Given the description of an element on the screen output the (x, y) to click on. 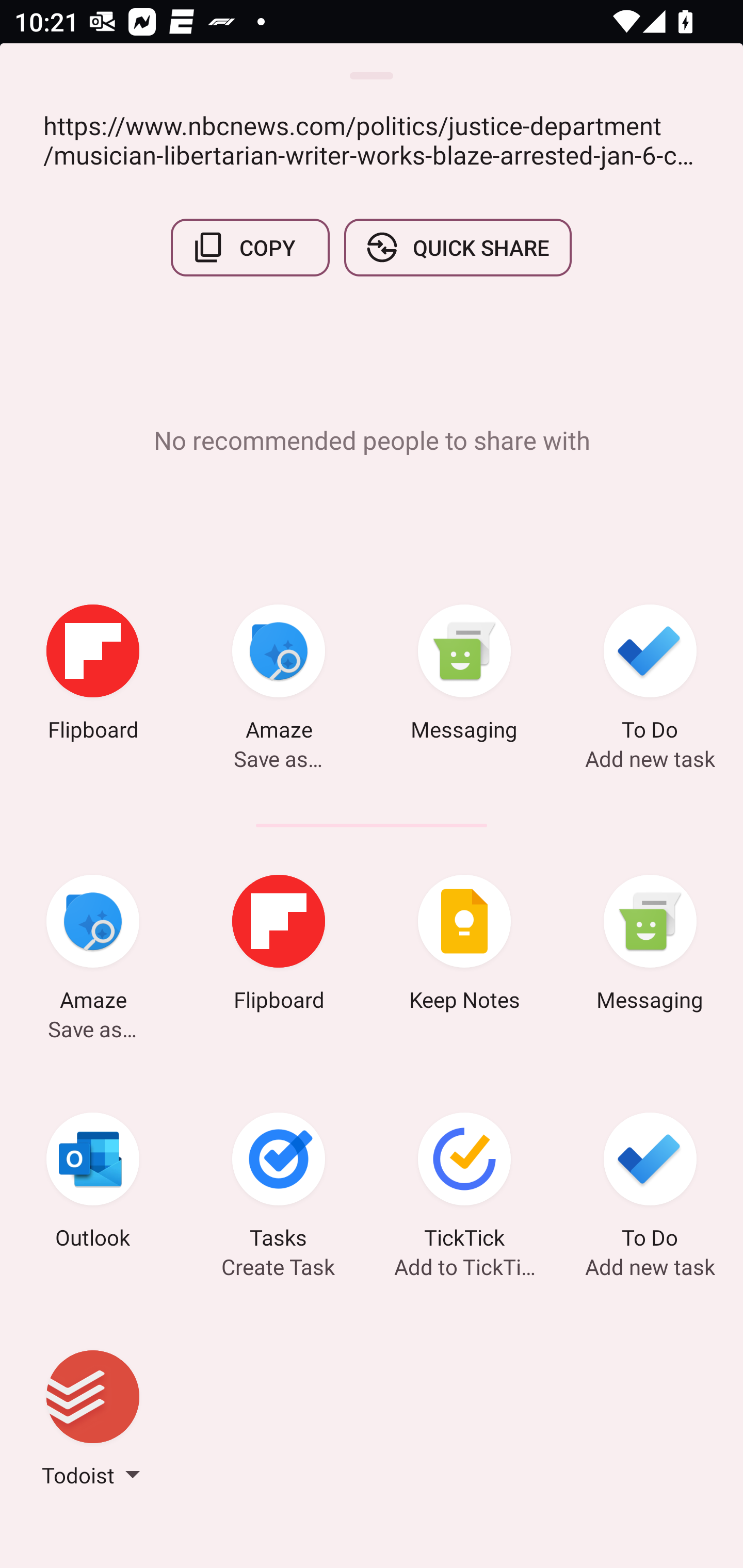
COPY (249, 247)
QUICK SHARE (457, 247)
Flipboard (92, 675)
Amaze Save as… (278, 675)
Messaging (464, 675)
To Do Add new task (650, 675)
Amaze Save as… (92, 945)
Flipboard (278, 945)
Keep Notes (464, 945)
Messaging (650, 945)
Outlook (92, 1183)
Tasks Create Task (278, 1183)
TickTick Add to TickTick (464, 1183)
To Do Add new task (650, 1183)
Todoist (92, 1422)
